Given the description of an element on the screen output the (x, y) to click on. 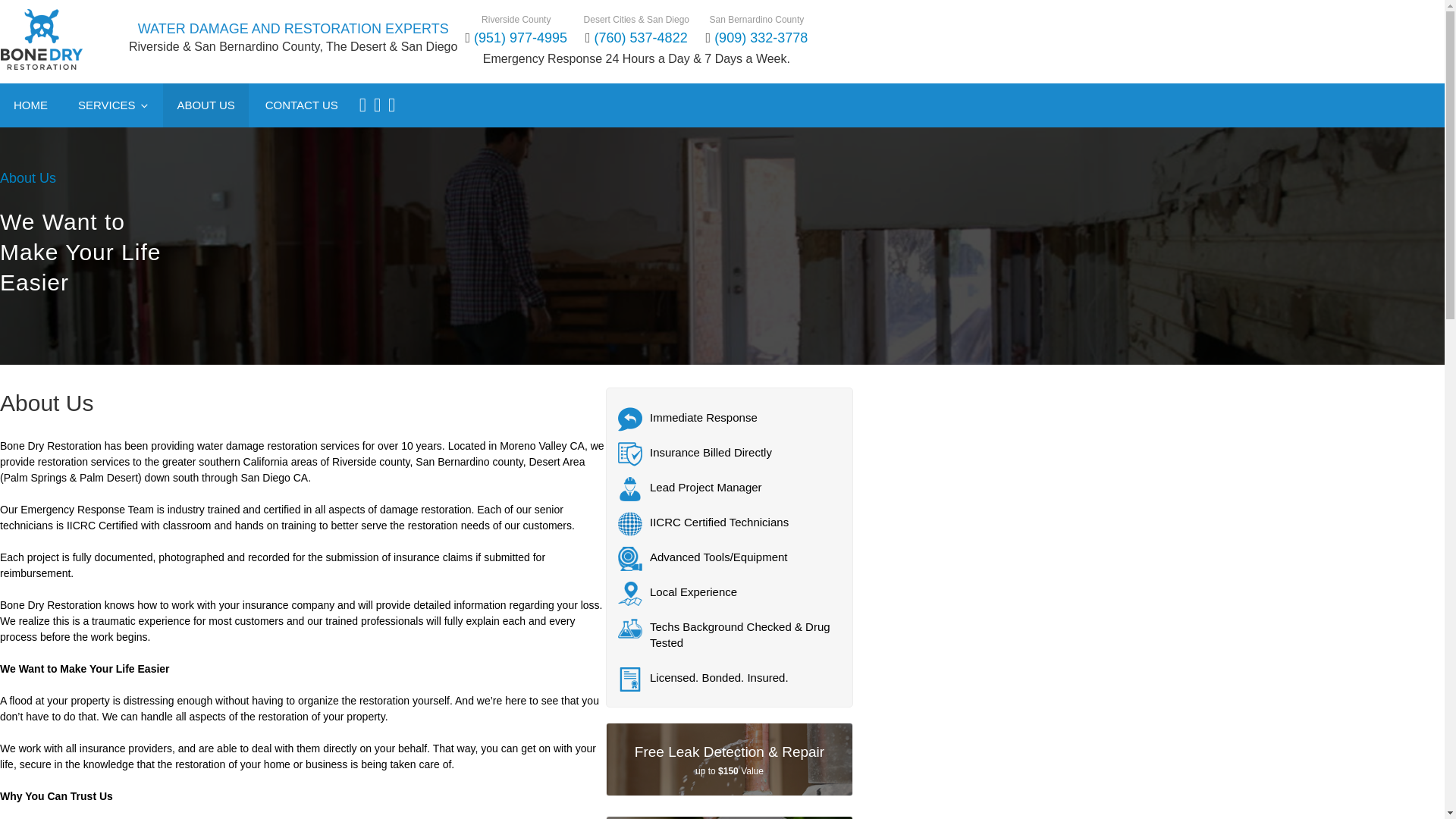
HOME (30, 105)
SERVICES (112, 105)
CONTACT US (301, 105)
ABOUT US (205, 105)
